Given the description of an element on the screen output the (x, y) to click on. 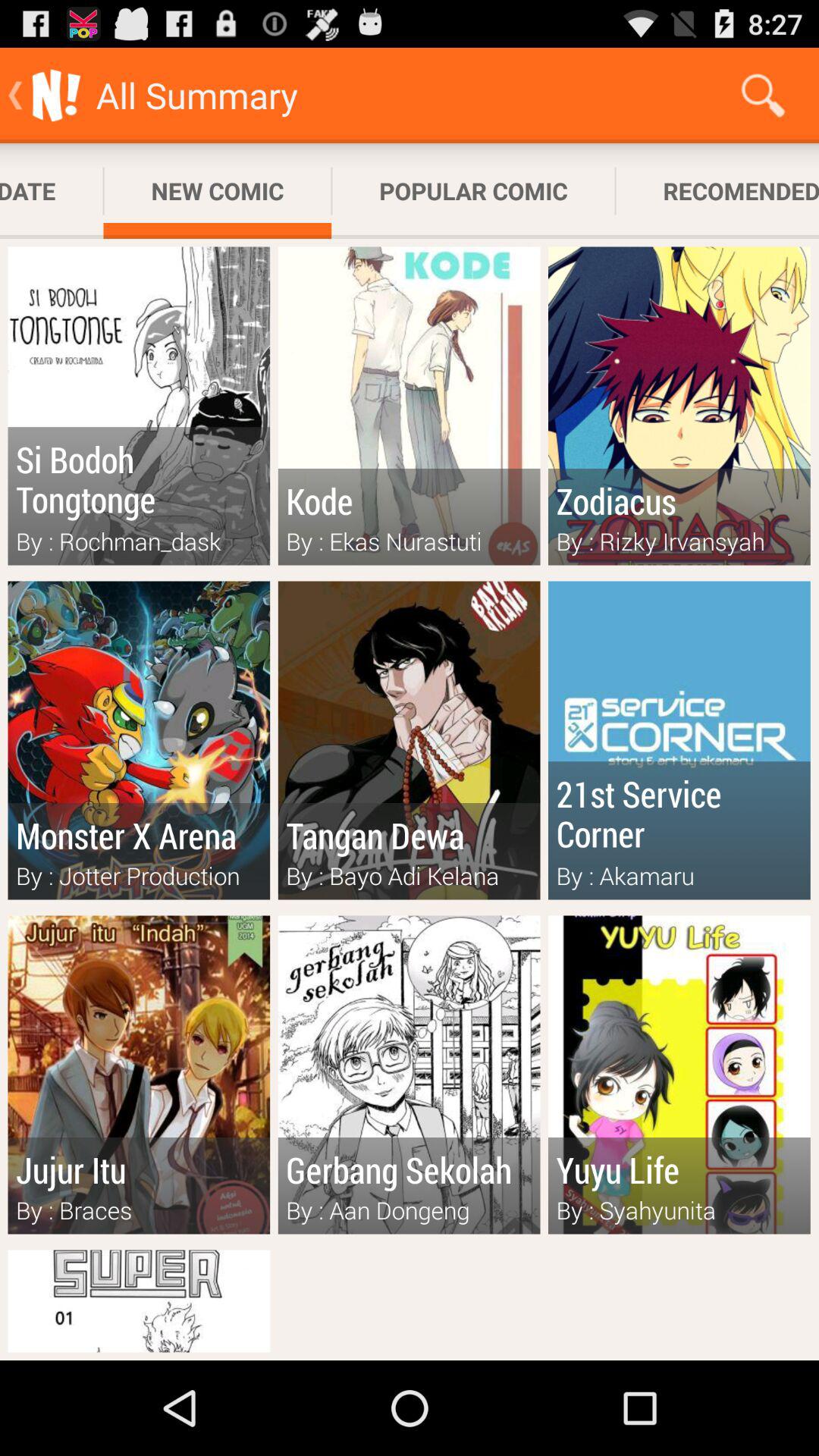
open the icon next to popular comic item (717, 190)
